Given the description of an element on the screen output the (x, y) to click on. 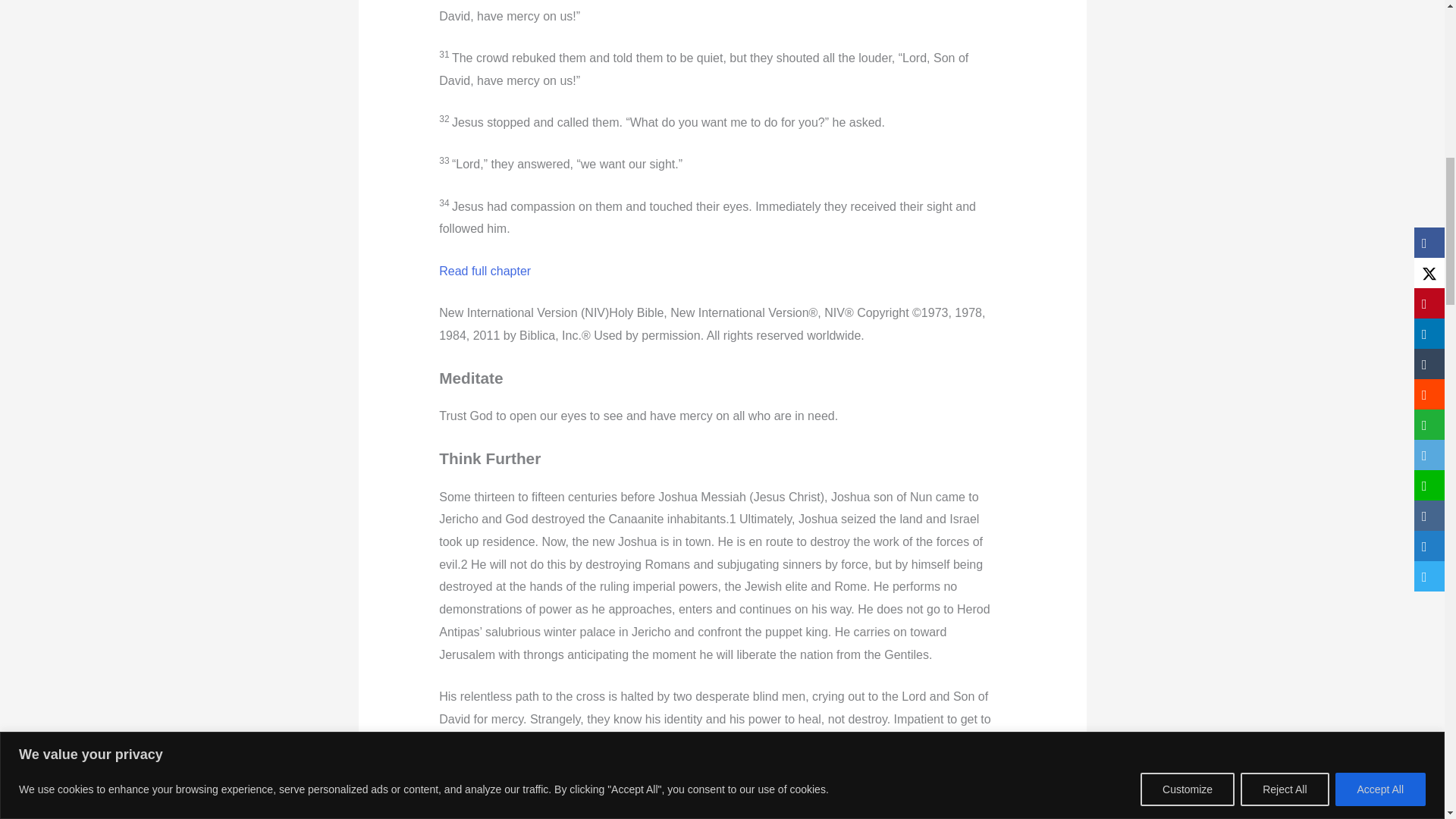
Read full chapter (485, 270)
